Given the description of an element on the screen output the (x, y) to click on. 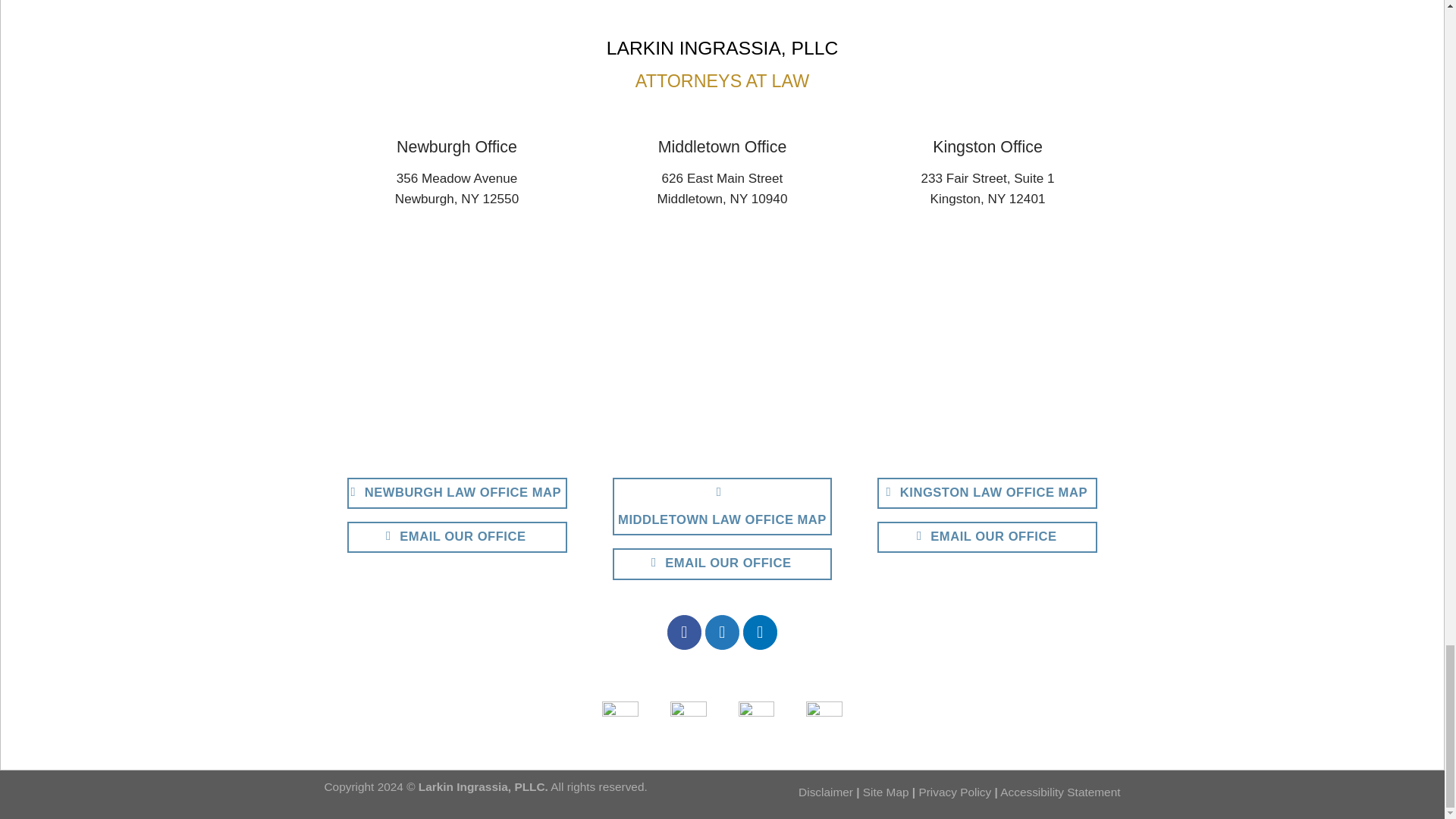
NEWBURGH LAW OFFICE MAP (457, 493)
EMAIL OUR OFFICE (722, 563)
EMAIL OUR OFFICE (457, 537)
EMAIL OUR OFFICE (987, 537)
MIDDLETOWN LAW OFFICE MAP (722, 506)
Follow on Facebook (683, 632)
Follow on Twitter (721, 632)
Disclaimer (825, 791)
KINGSTON LAW OFFICE MAP (987, 493)
Follow on LinkedIn (759, 632)
